Given the description of an element on the screen output the (x, y) to click on. 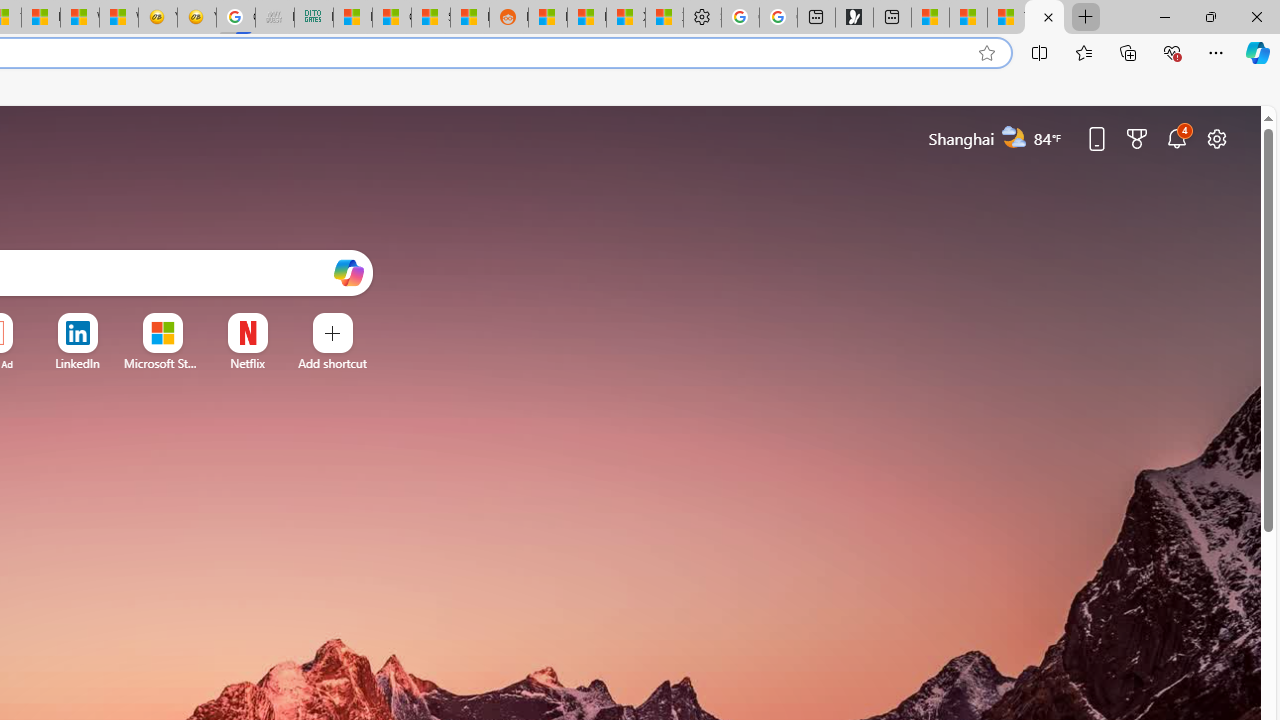
Add a site (332, 363)
Microsoft rewards (1137, 138)
Microsoft Start Gaming (853, 17)
MSNBC - MSN (353, 17)
DITOGAMES AG Imprint (313, 17)
